Given the description of an element on the screen output the (x, y) to click on. 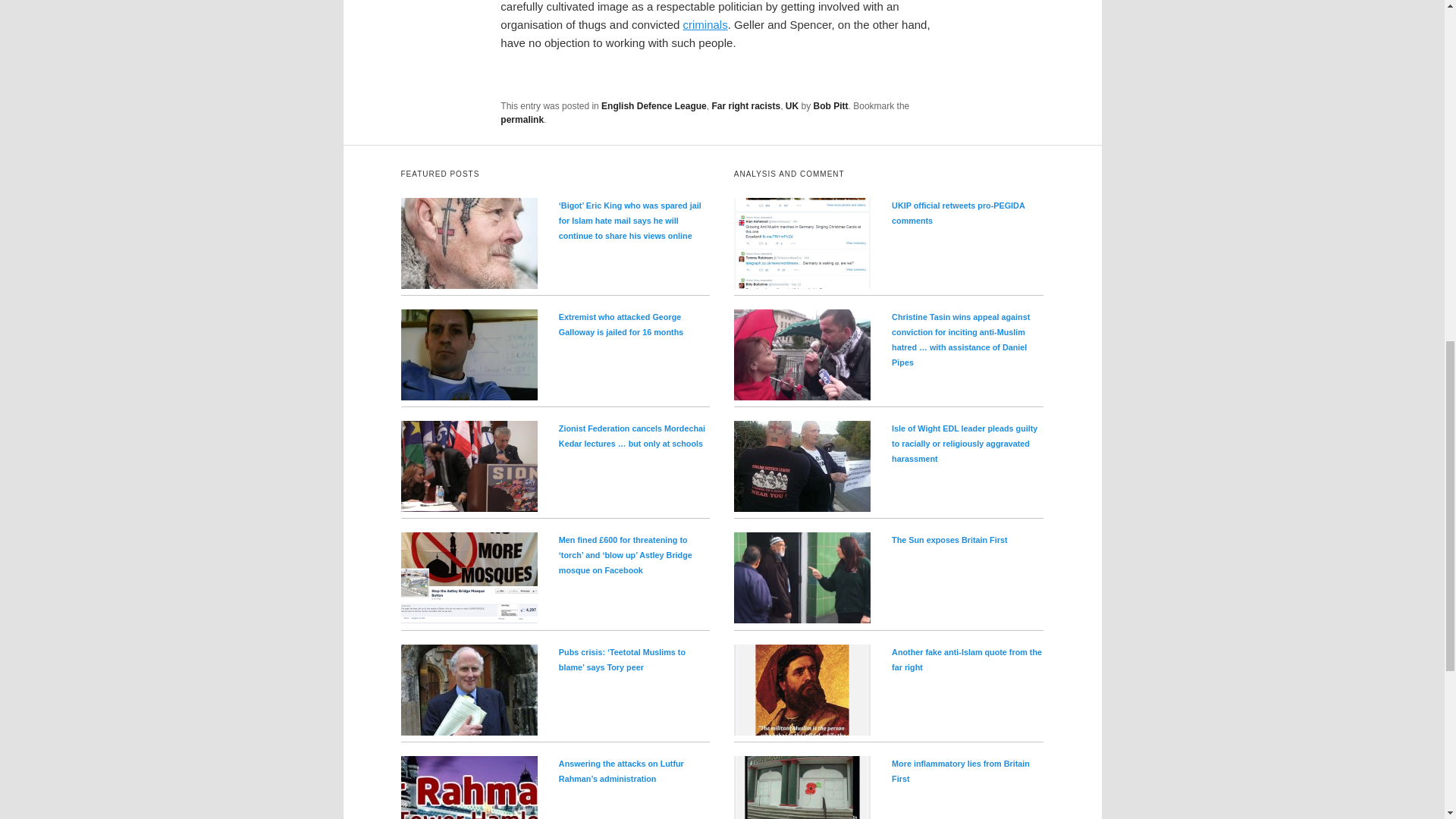
permalink (521, 119)
criminals (705, 24)
Far right racists (745, 105)
Bob Pitt (830, 105)
English Defence League (653, 105)
UK (791, 105)
